Given the description of an element on the screen output the (x, y) to click on. 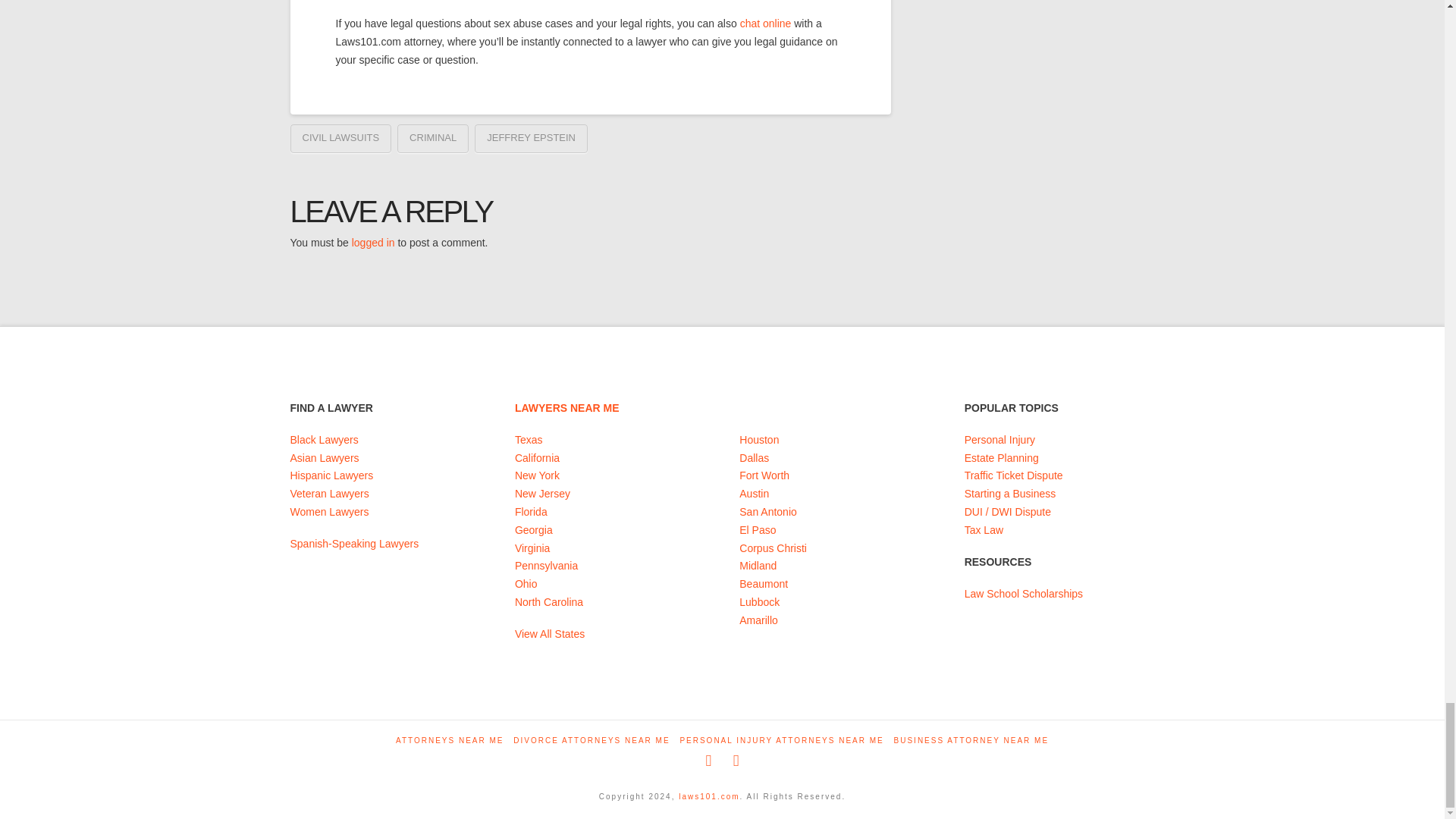
Best Lawyers in Midland-Odessa (757, 565)
Best Lawyers in Dallas (753, 458)
Best Lawyers in Corpus Christi (772, 548)
Best Lawyers in Austin (753, 493)
Best Lawyers in Fort Worth (764, 475)
Best Lawyers in San Antonio (767, 511)
Best Lawyers in Lubbock (758, 602)
Best Lawyers in El Paso (757, 530)
Best Lawyers in Houston (758, 439)
Best Lawyers in Beaumont (763, 583)
Best Lawyers in Amarillo (758, 620)
